Given the description of an element on the screen output the (x, y) to click on. 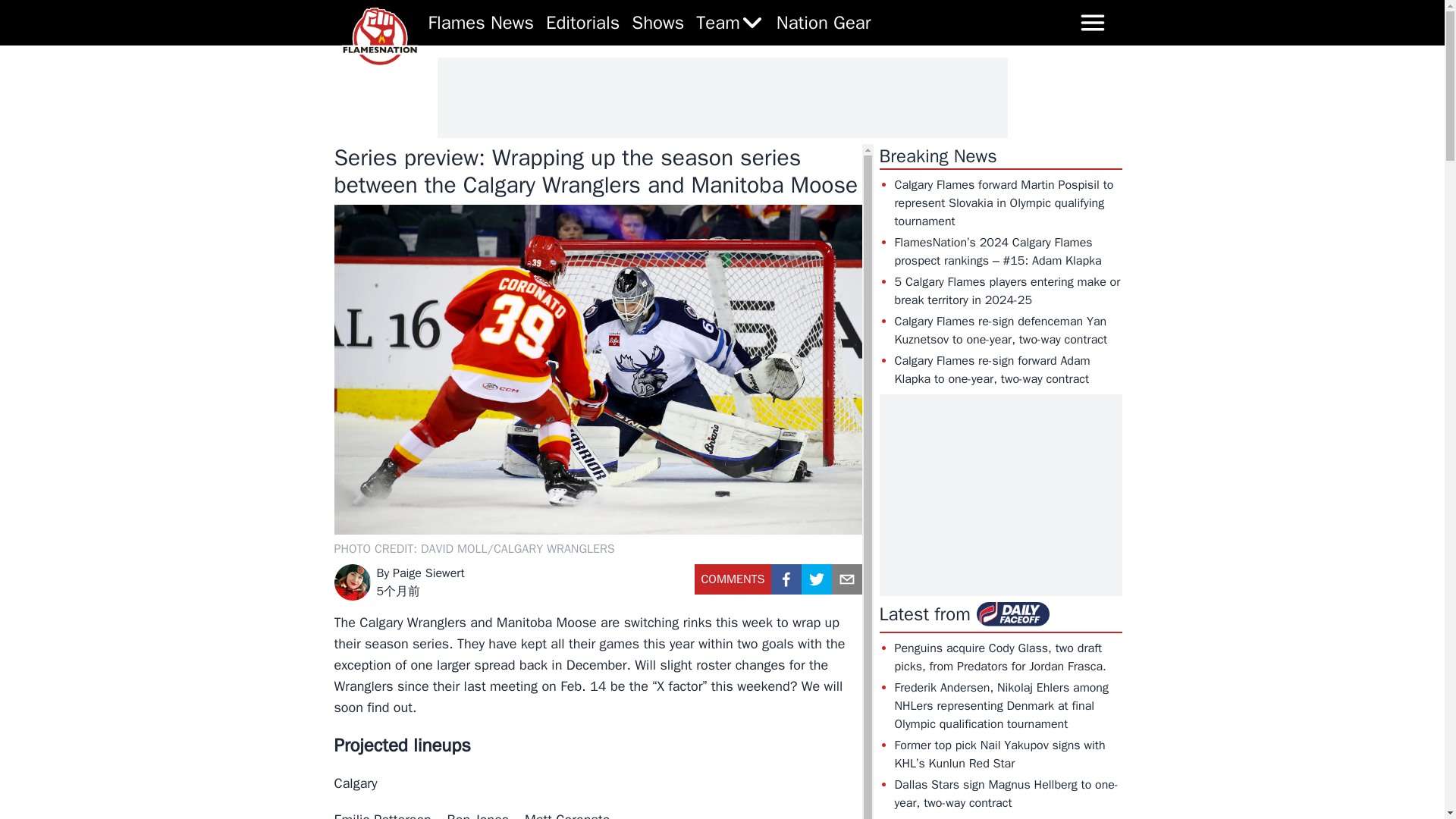
Flames News (481, 22)
Editorials (583, 22)
Nation Gear (823, 22)
Shows (657, 22)
COMMENTS (732, 584)
Paige Siewert (428, 572)
